Given the description of an element on the screen output the (x, y) to click on. 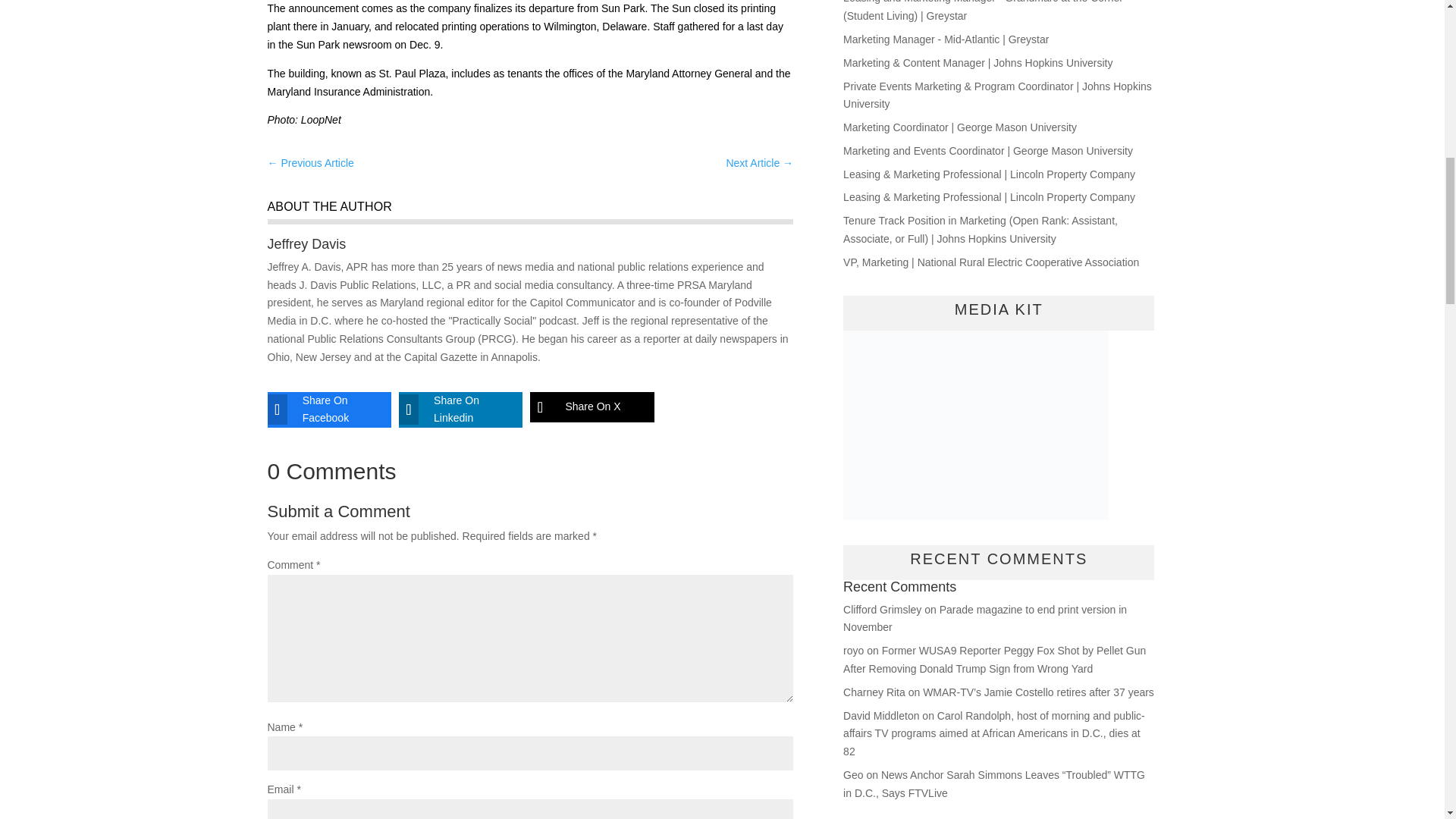
Share On Facebook (317, 410)
Share On Linkedin (448, 410)
Share On X (579, 407)
